Given the description of an element on the screen output the (x, y) to click on. 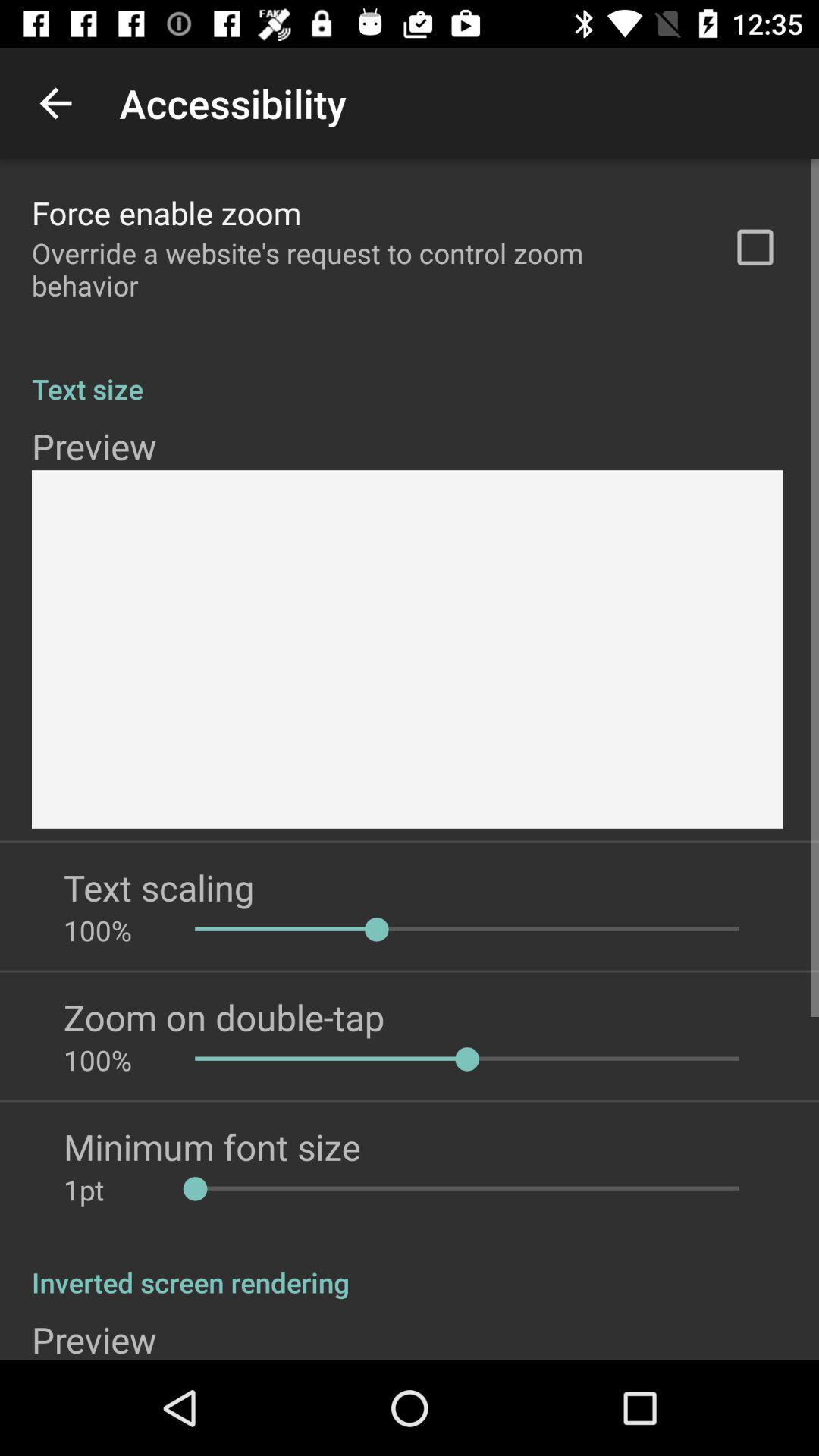
jump to minimum font size item (211, 1146)
